Given the description of an element on the screen output the (x, y) to click on. 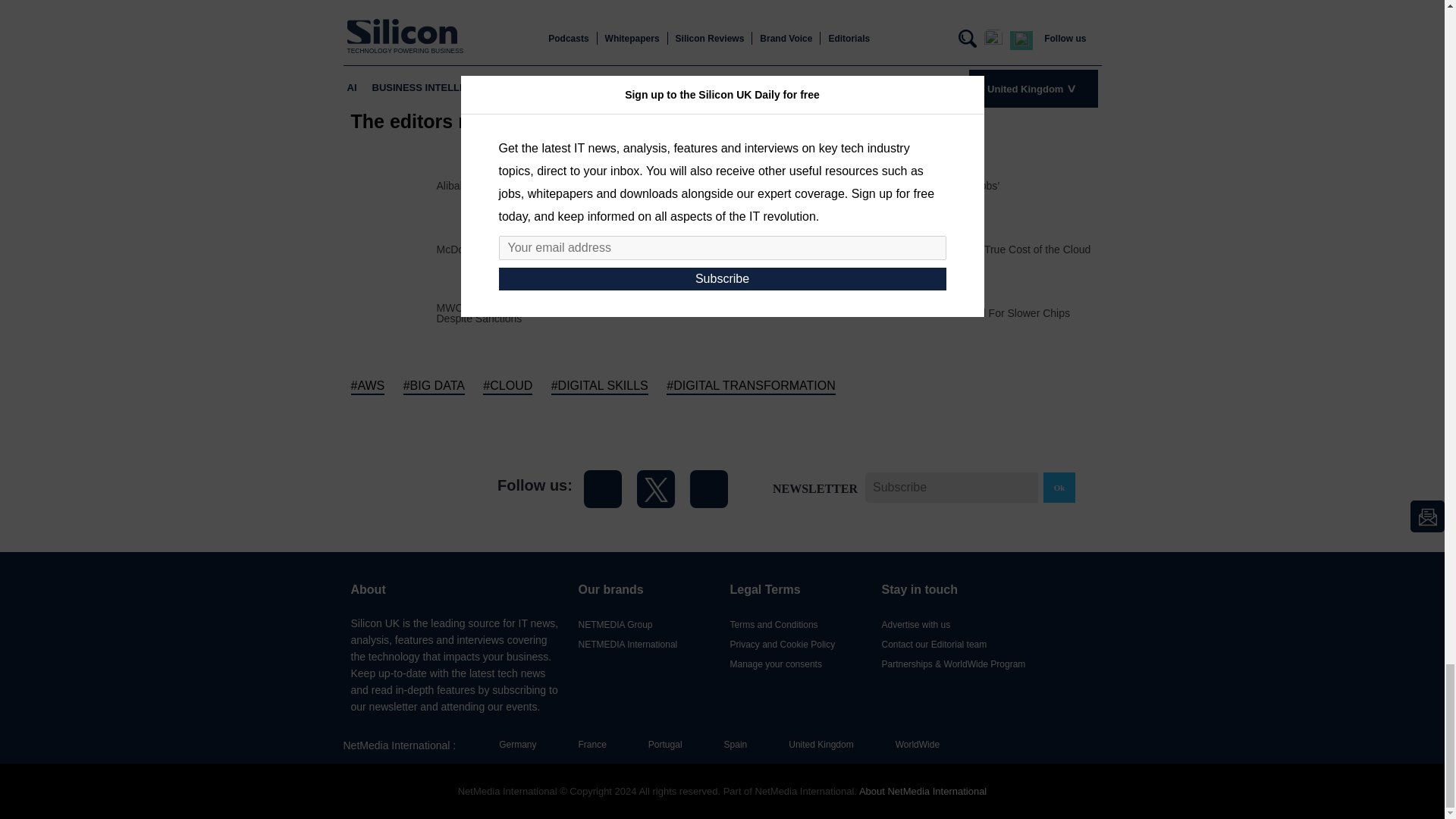
Clouded II Documentary Reveals the True Cost of the Cloud (949, 249)
Alibaba Cloud To Shut Down Australia, India Data Centres (573, 185)
Silicon UK (408, 488)
Nvidia Finds Reduced China Demand For Slower Chips (939, 312)
